Given the description of an element on the screen output the (x, y) to click on. 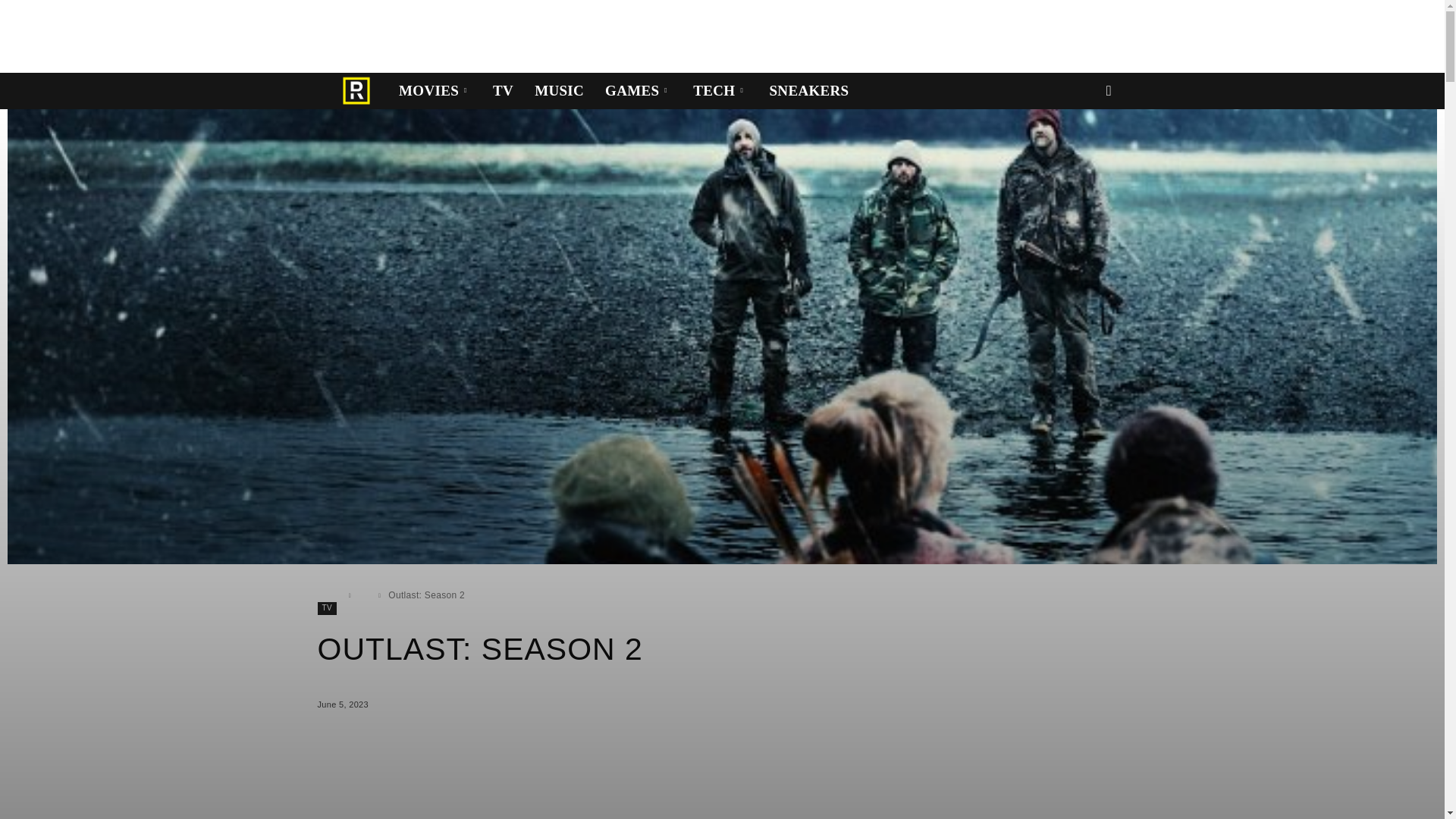
Advertisement (275, 33)
GAMES (638, 90)
MOVIES (434, 90)
New Movie Releases (434, 90)
TECH (720, 90)
MUSIC (559, 90)
TV (502, 90)
Release Details (356, 90)
New TV Show Releases (502, 90)
